Given the description of an element on the screen output the (x, y) to click on. 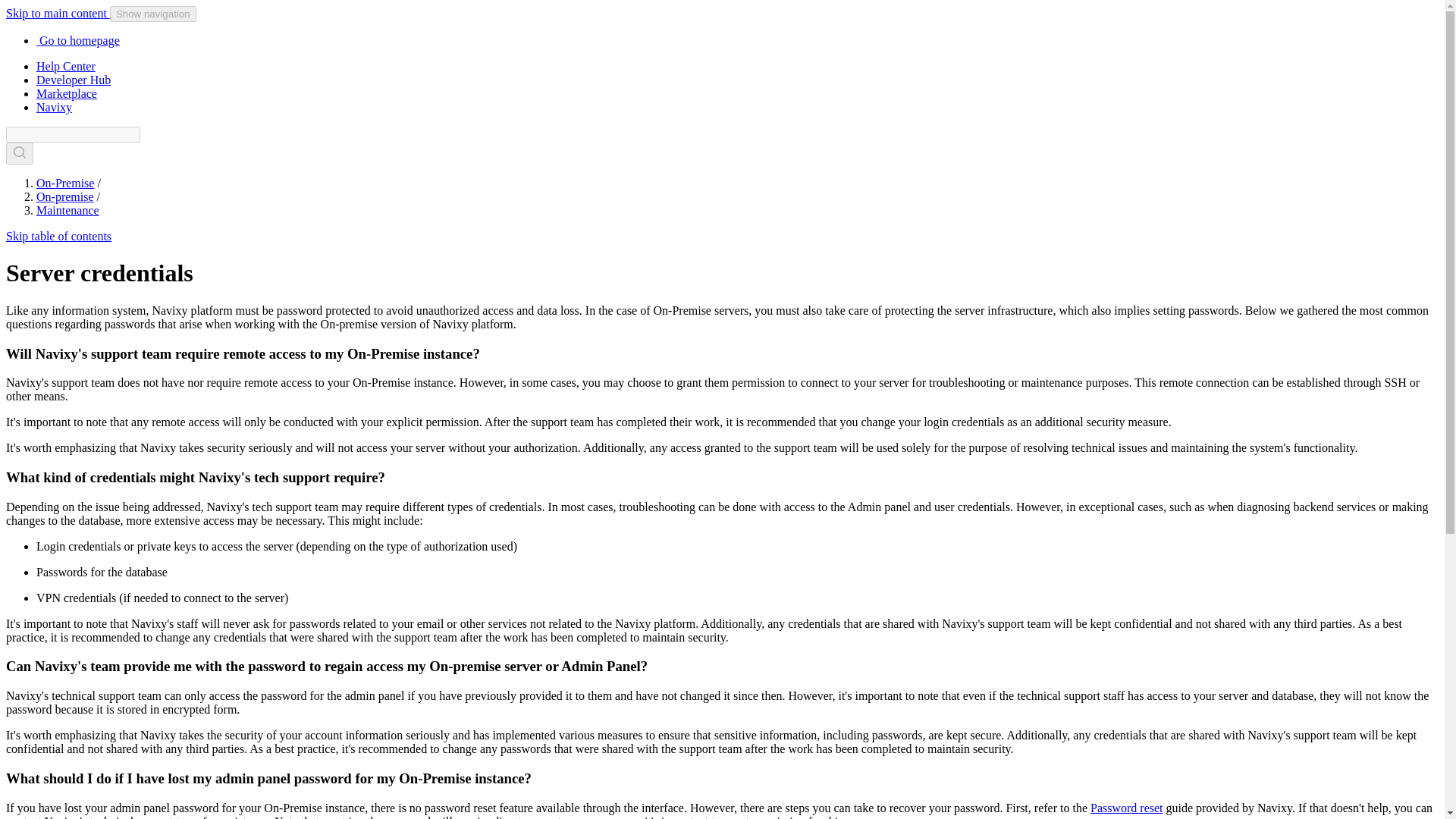
Skip table of contents (58, 236)
Navixy (53, 106)
Skip to main content (57, 12)
On-premise (65, 196)
Go to homepage (77, 40)
Show navigation (153, 13)
Marketplace (66, 92)
On-Premise (65, 182)
Maintenance (67, 210)
Password reset (1126, 807)
